Given the description of an element on the screen output the (x, y) to click on. 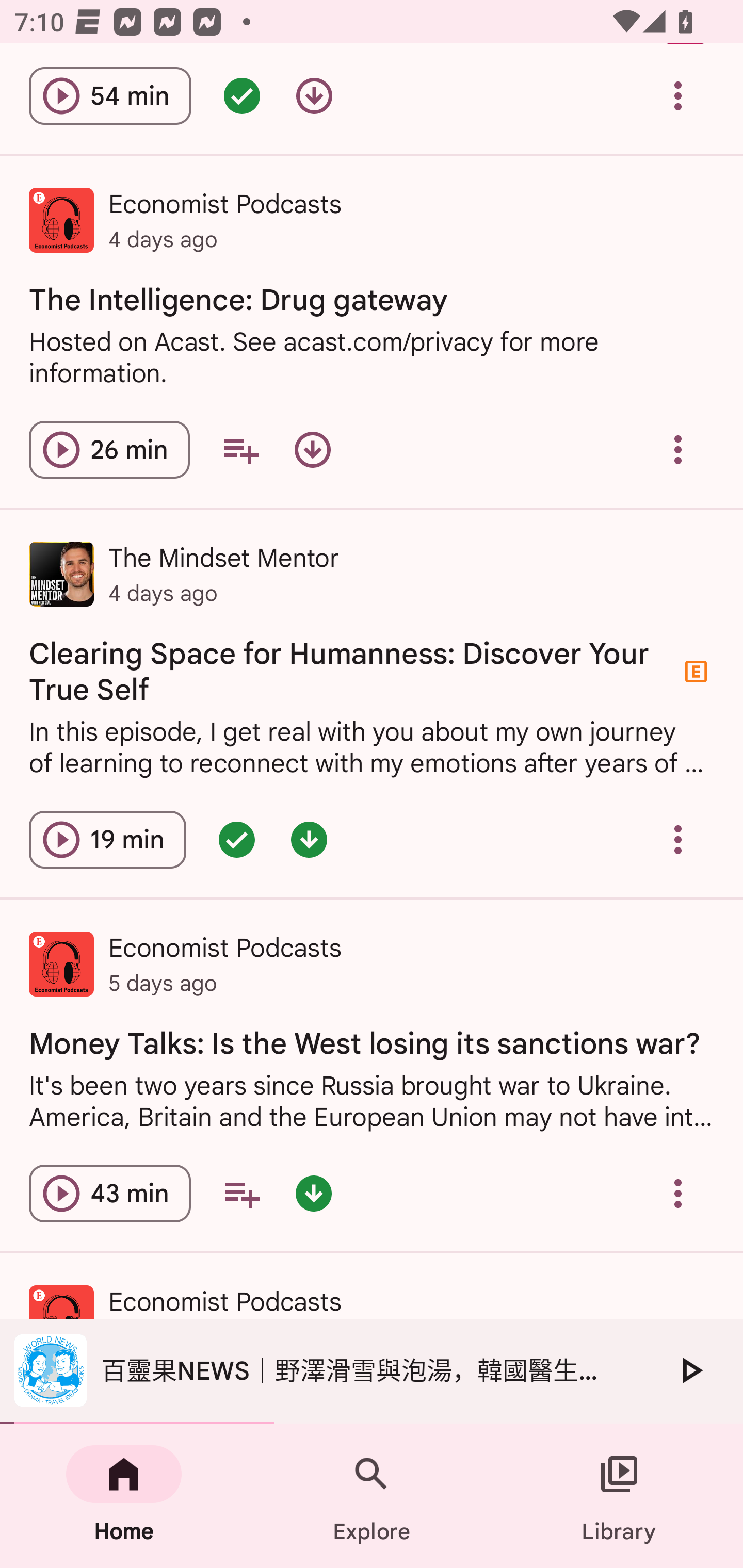
Episode queued - double tap for options (241, 96)
Download episode (313, 96)
Overflow menu (677, 96)
Play episode The Intelligence: Drug gateway 26 min (109, 449)
Add to your queue (240, 449)
Download episode (312, 449)
Overflow menu (677, 449)
Episode queued - double tap for options (236, 839)
Episode downloaded - double tap for options (308, 839)
Overflow menu (677, 839)
Add to your queue (241, 1193)
Episode downloaded - double tap for options (313, 1193)
Overflow menu (677, 1193)
Play (690, 1370)
Explore (371, 1495)
Library (619, 1495)
